Given the description of an element on the screen output the (x, y) to click on. 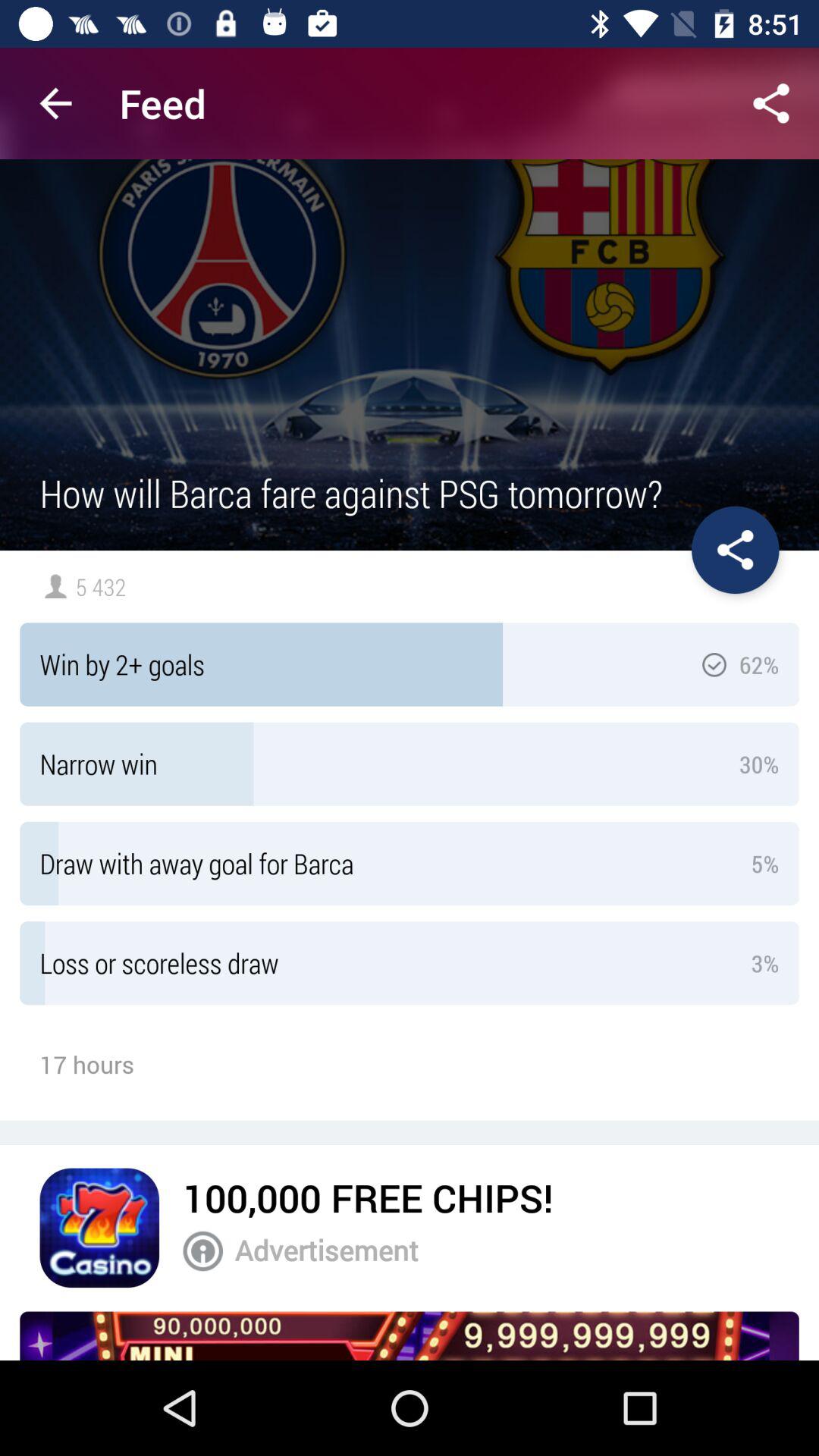
tap the 100 000 free (368, 1197)
